Given the description of an element on the screen output the (x, y) to click on. 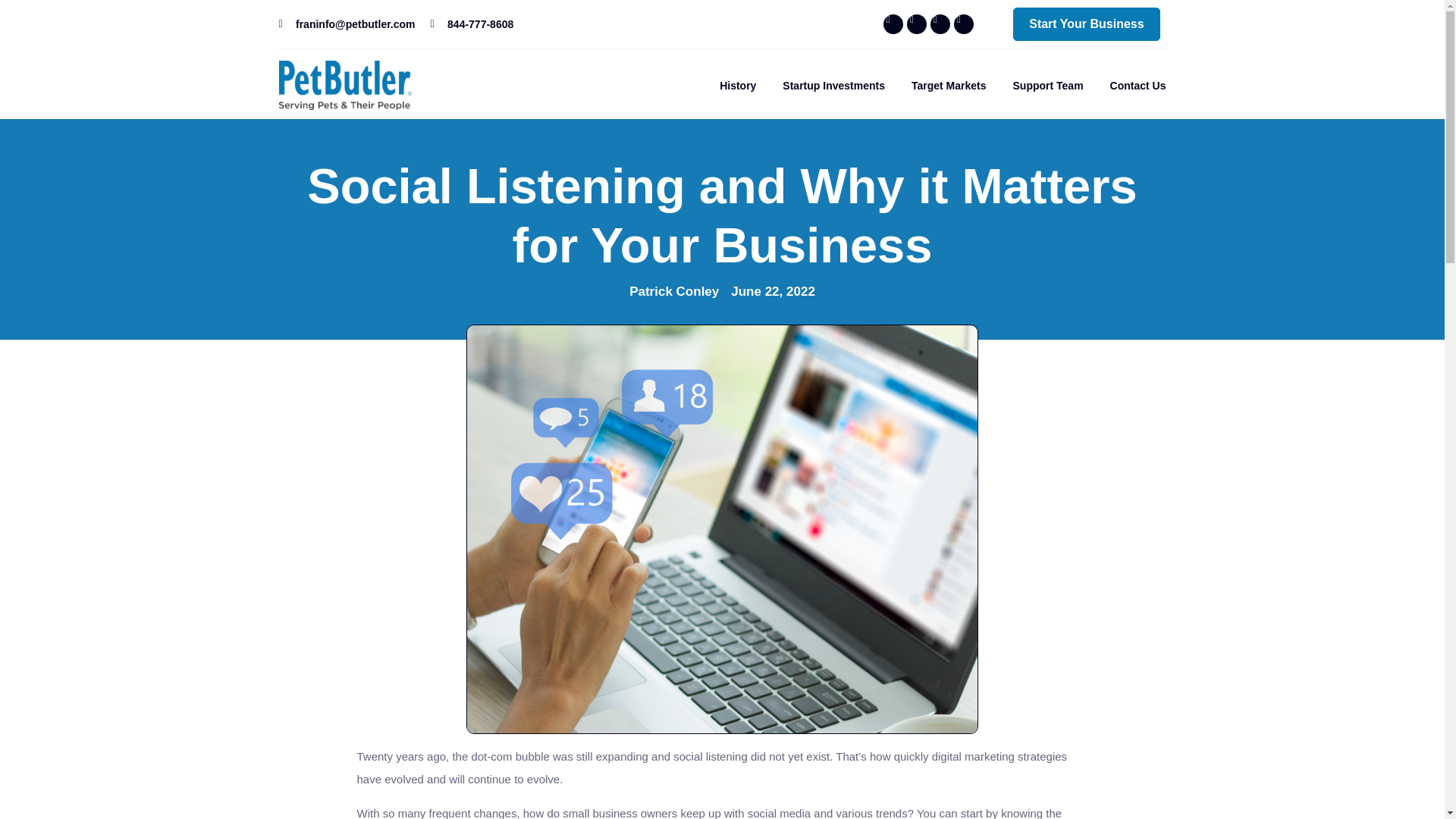
Support Team (1048, 85)
June 22, 2022 (772, 293)
Target Markets (949, 85)
Startup Investments (834, 85)
Patrick Conley (673, 294)
Contact Us (1137, 85)
History (737, 85)
Start Your Business (1085, 23)
844-777-8608 (471, 23)
